Given the description of an element on the screen output the (x, y) to click on. 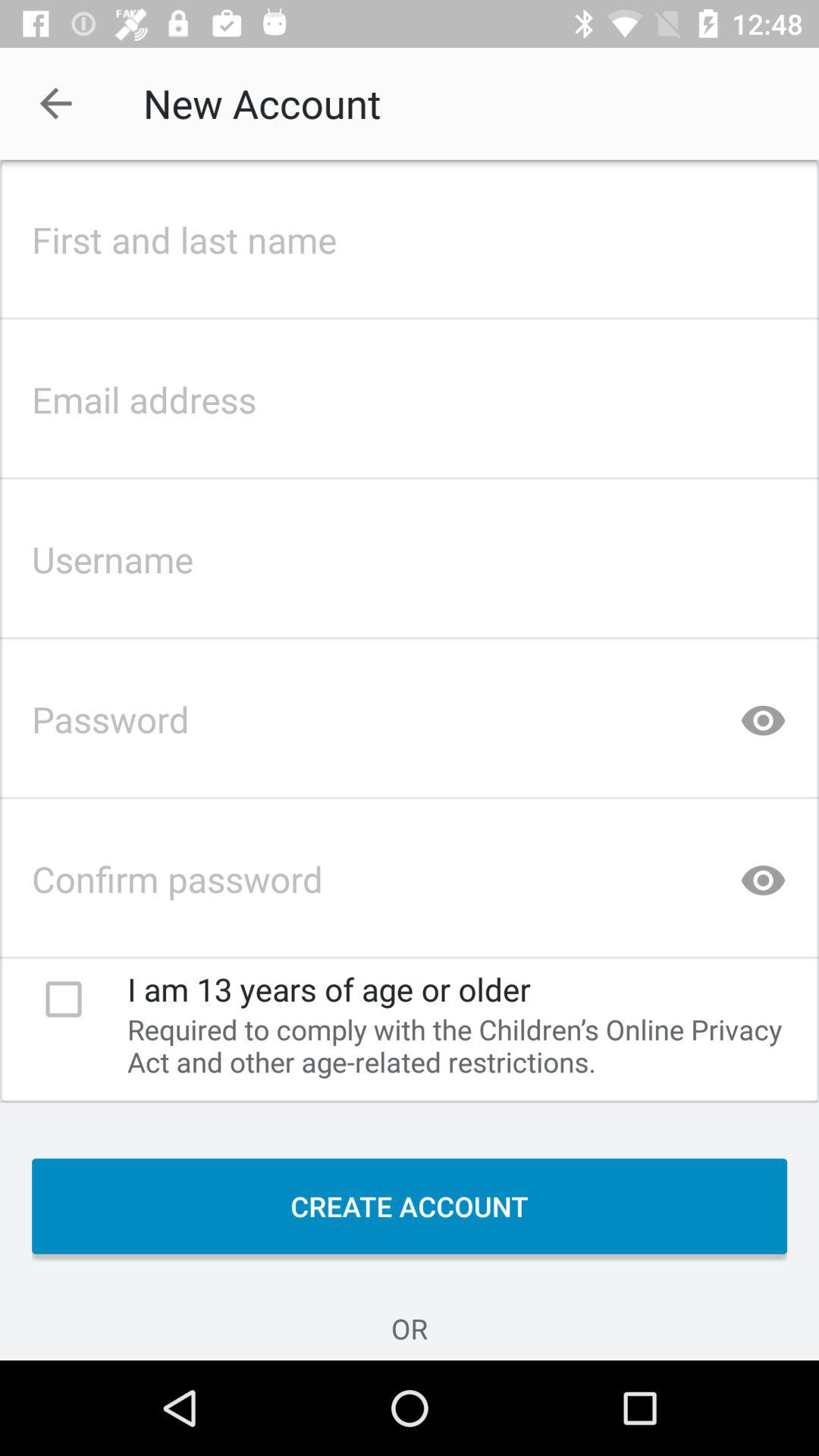
check box indicating 13 years of age or older (63, 999)
